Given the description of an element on the screen output the (x, y) to click on. 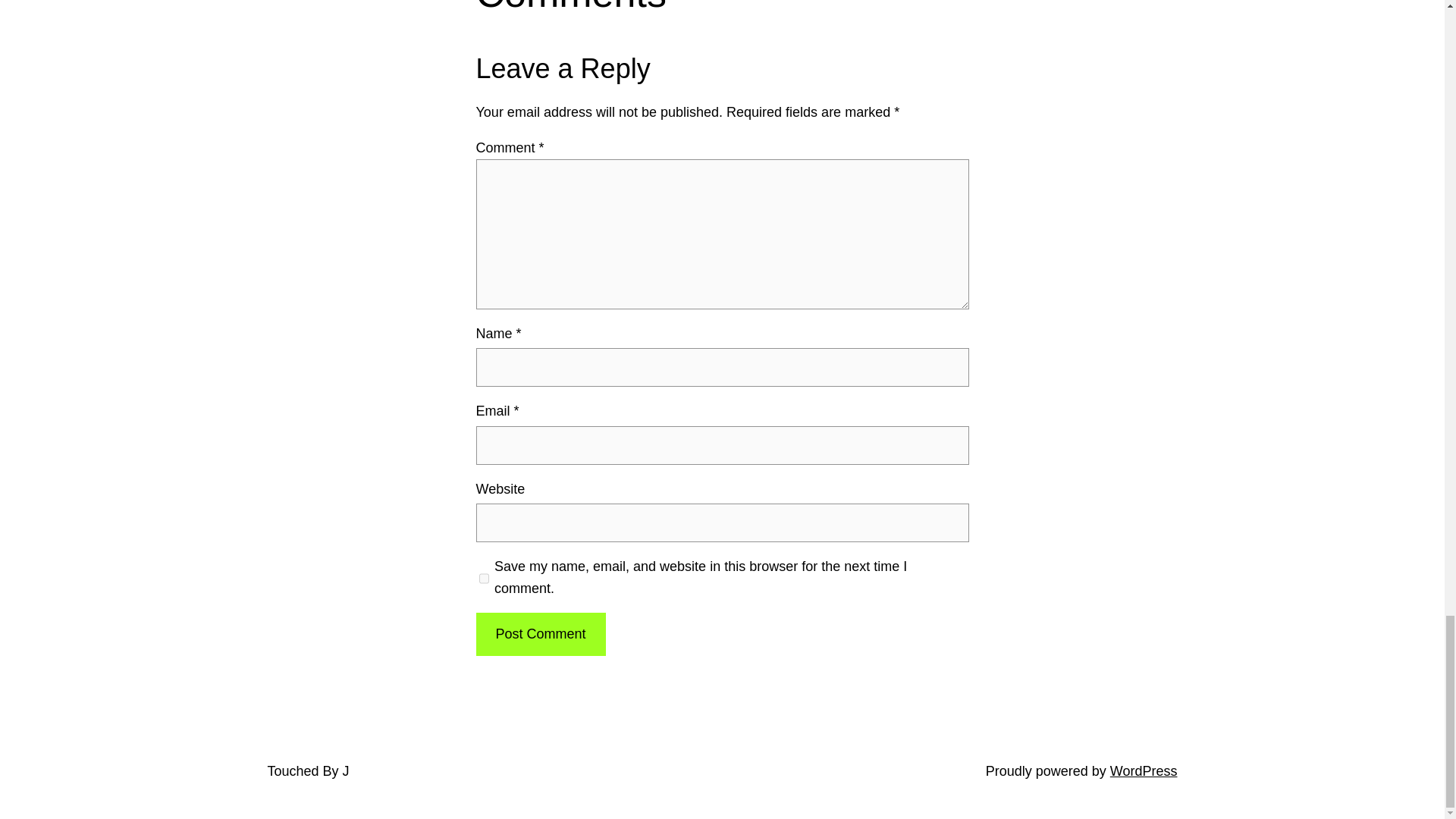
Touched By J (307, 770)
Post Comment (540, 634)
WordPress (1143, 770)
Post Comment (540, 634)
yes (484, 578)
